Given the description of an element on the screen output the (x, y) to click on. 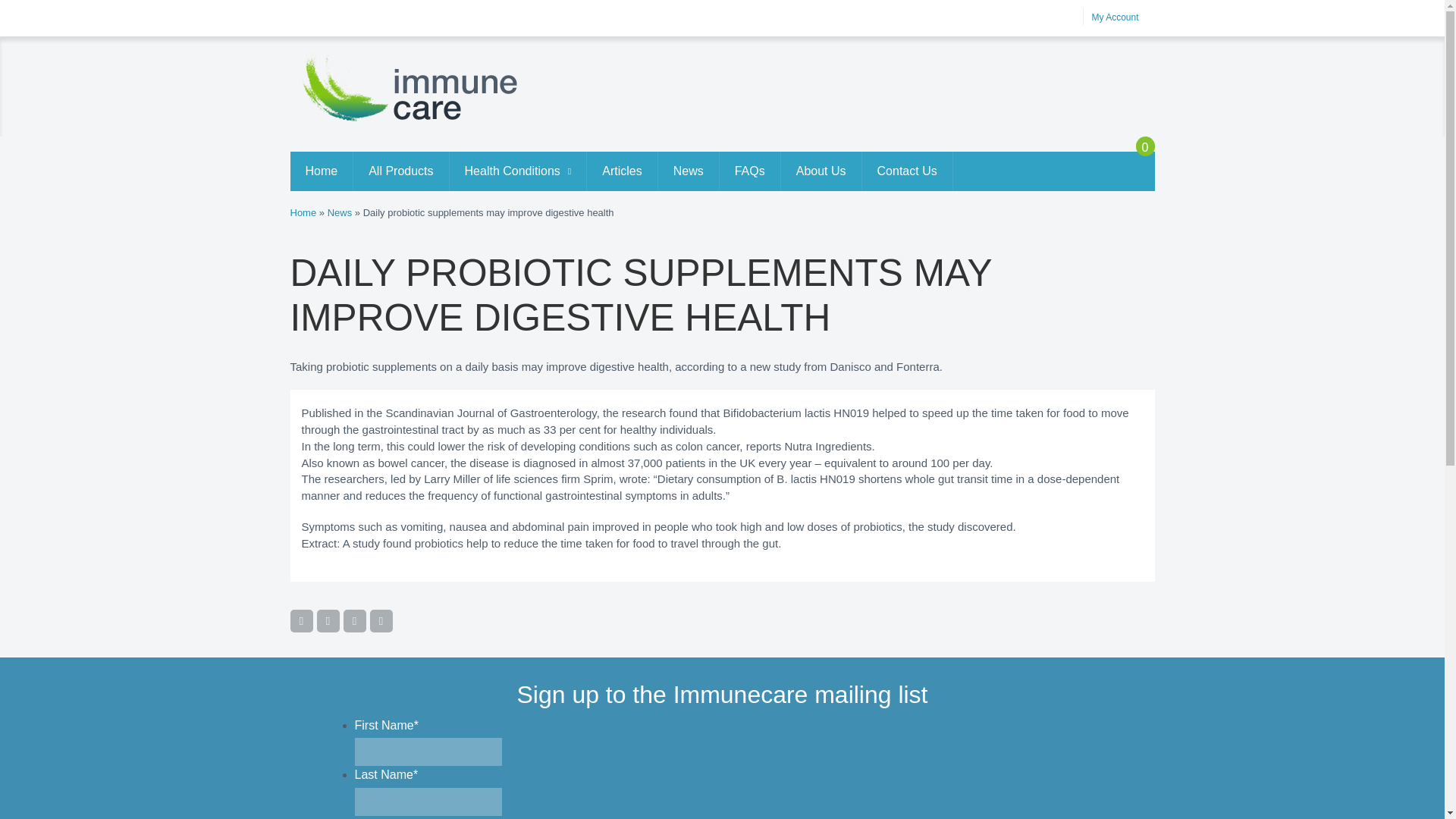
0 (1127, 162)
News (688, 170)
Google Plus (353, 619)
My Account (1114, 17)
All Products (400, 170)
News (339, 212)
FAQs (749, 170)
Articles (621, 170)
Twitter (328, 619)
Contact Us (906, 170)
